Given the description of an element on the screen output the (x, y) to click on. 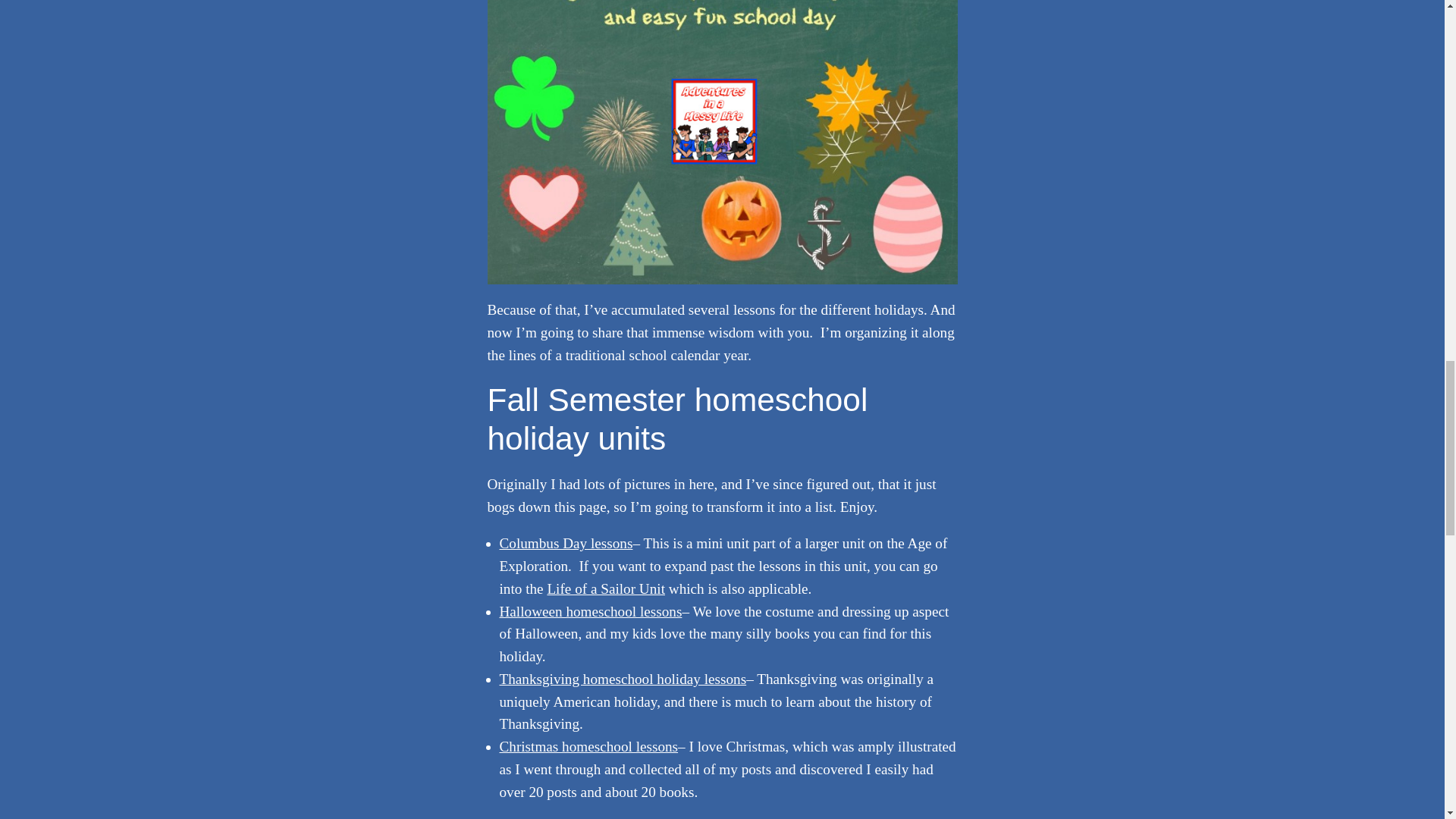
Life of a Sailor Unit (606, 588)
Christmas homeschool lessons (588, 746)
Thanksgiving homeschool holiday lessons (622, 678)
Halloween homeschool lessons (590, 611)
Columbus Day lessons (565, 543)
